Given the description of an element on the screen output the (x, y) to click on. 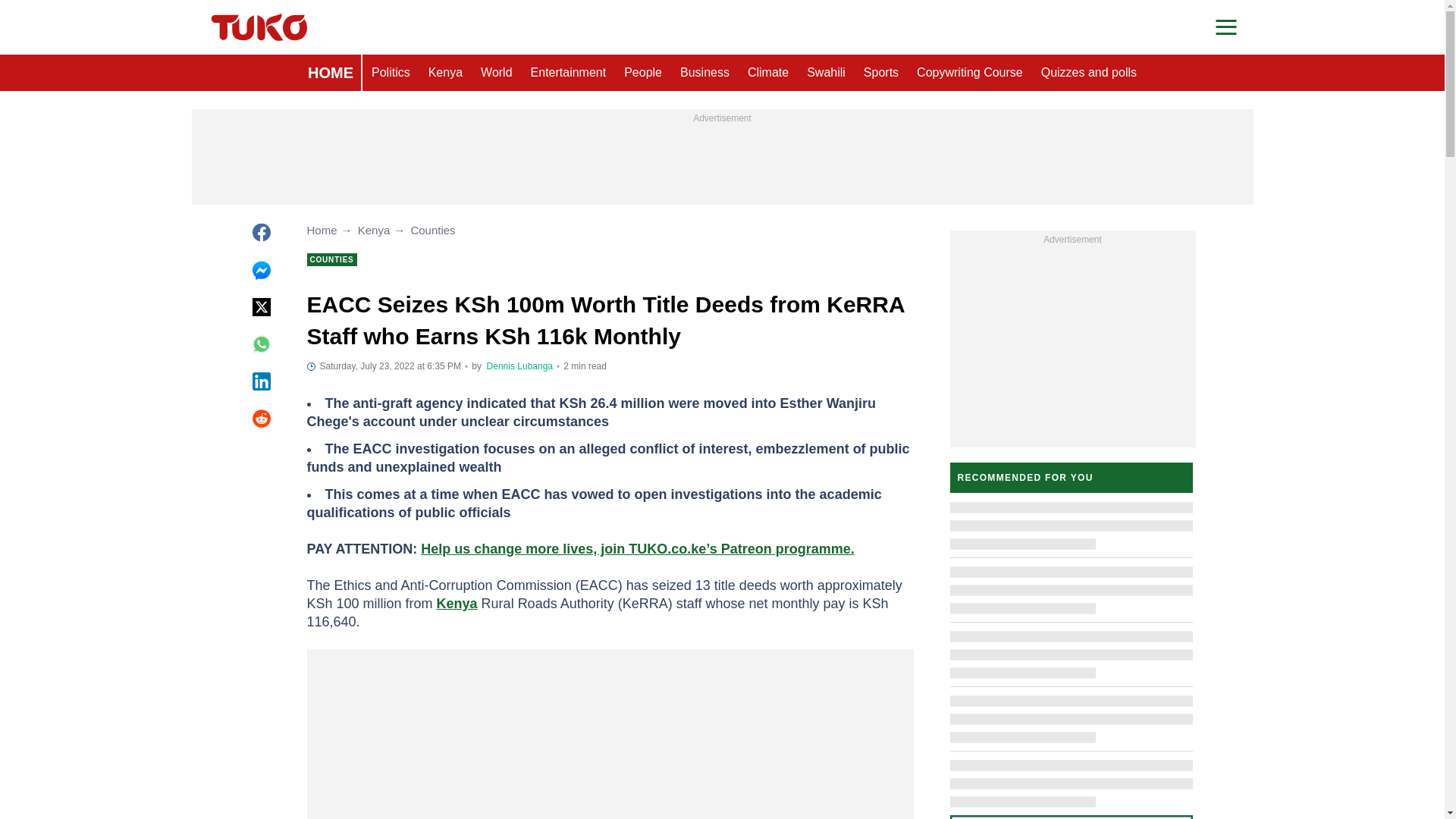
Copywriting Course (969, 72)
Author page (519, 366)
Kenya (445, 72)
Quizzes and polls (1088, 72)
Business (704, 72)
Climate (767, 72)
Swahili (825, 72)
World (496, 72)
Politics (390, 72)
People (642, 72)
Sports (880, 72)
HOME (330, 72)
Entertainment (568, 72)
